Given the description of an element on the screen output the (x, y) to click on. 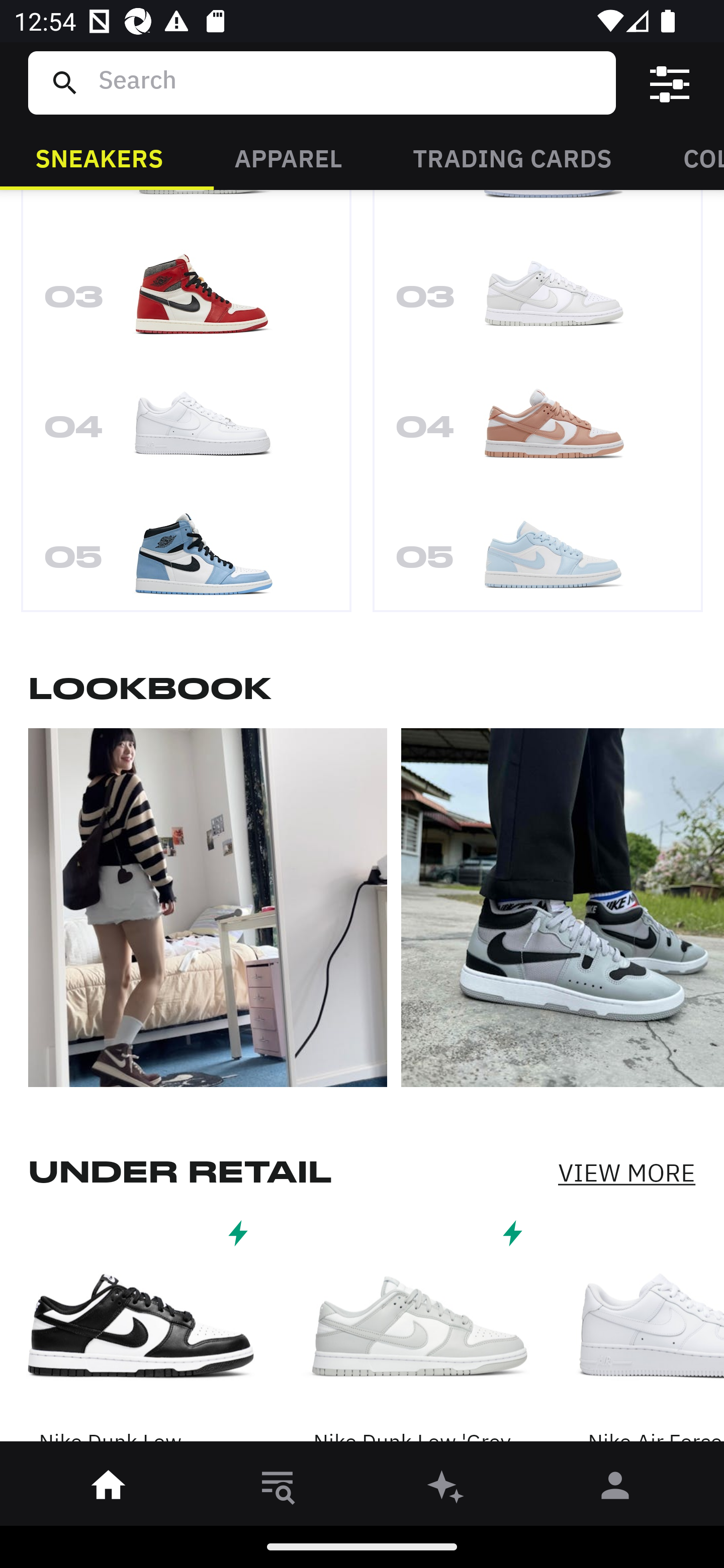
Search (349, 82)
 (669, 82)
SNEAKERS (99, 156)
APPAREL (287, 156)
TRADING CARDS (512, 156)
03 (186, 303)
03 (538, 303)
04 (186, 433)
04 (538, 433)
05 (186, 553)
05 (538, 553)
VIEW MORE (626, 1172)
 Nike Dunk Low 'Panda' 2021 [also worn by BTS RM] (140, 1331)
 Nike Dunk Low 'Grey Fog' (414, 1331)
Nike Air Force 1 Low White '07 (654, 1331)
󰋜 (108, 1488)
󱎸 (277, 1488)
󰫢 (446, 1488)
󰀄 (615, 1488)
